Given the description of an element on the screen output the (x, y) to click on. 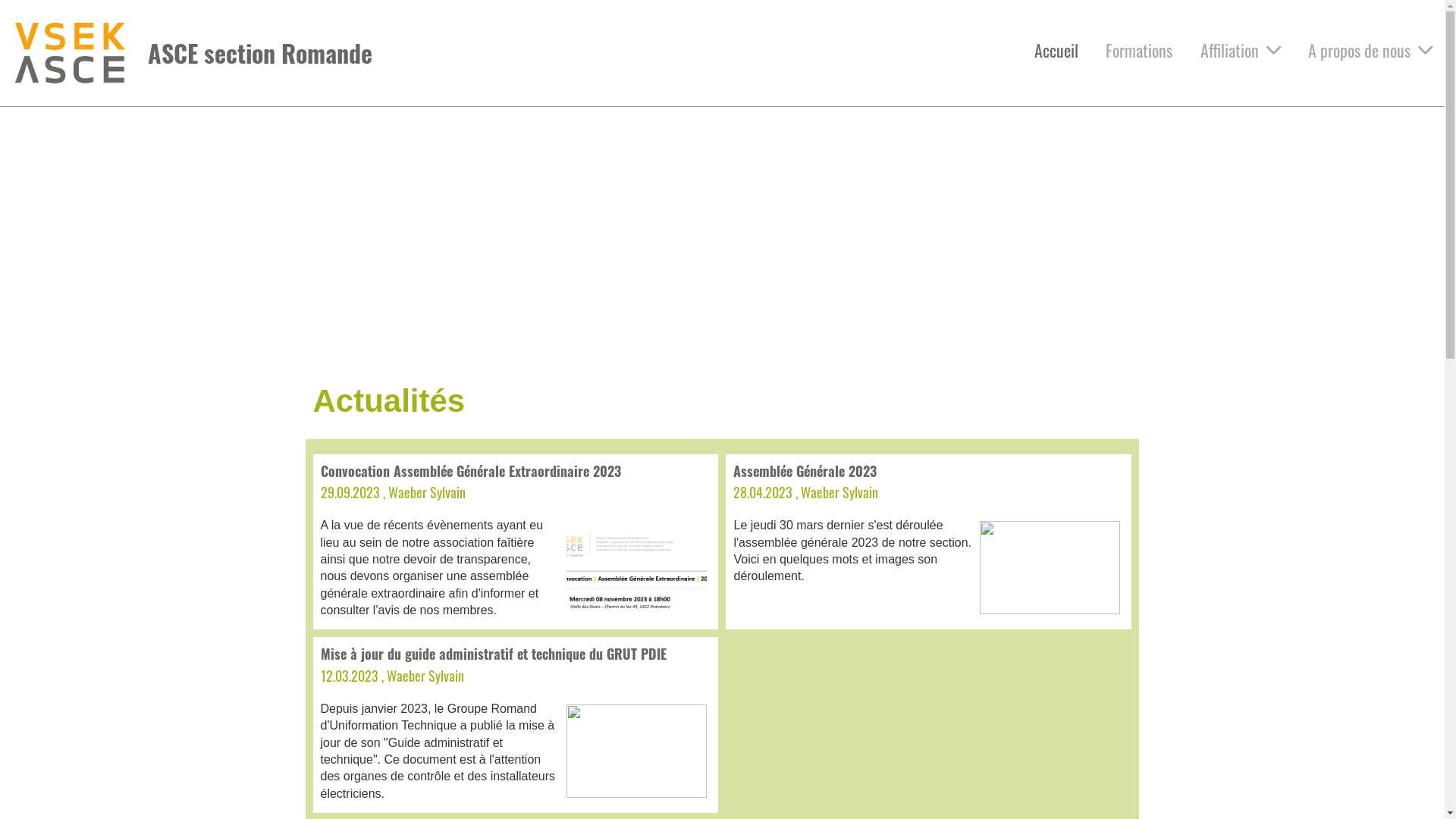
Formations Element type: text (1138, 49)
Affiliation Element type: text (1240, 49)
ASCE section Romande Element type: text (259, 53)
Accueil Element type: text (1056, 49)
A propos de nous Element type: text (1369, 49)
